Given the description of an element on the screen output the (x, y) to click on. 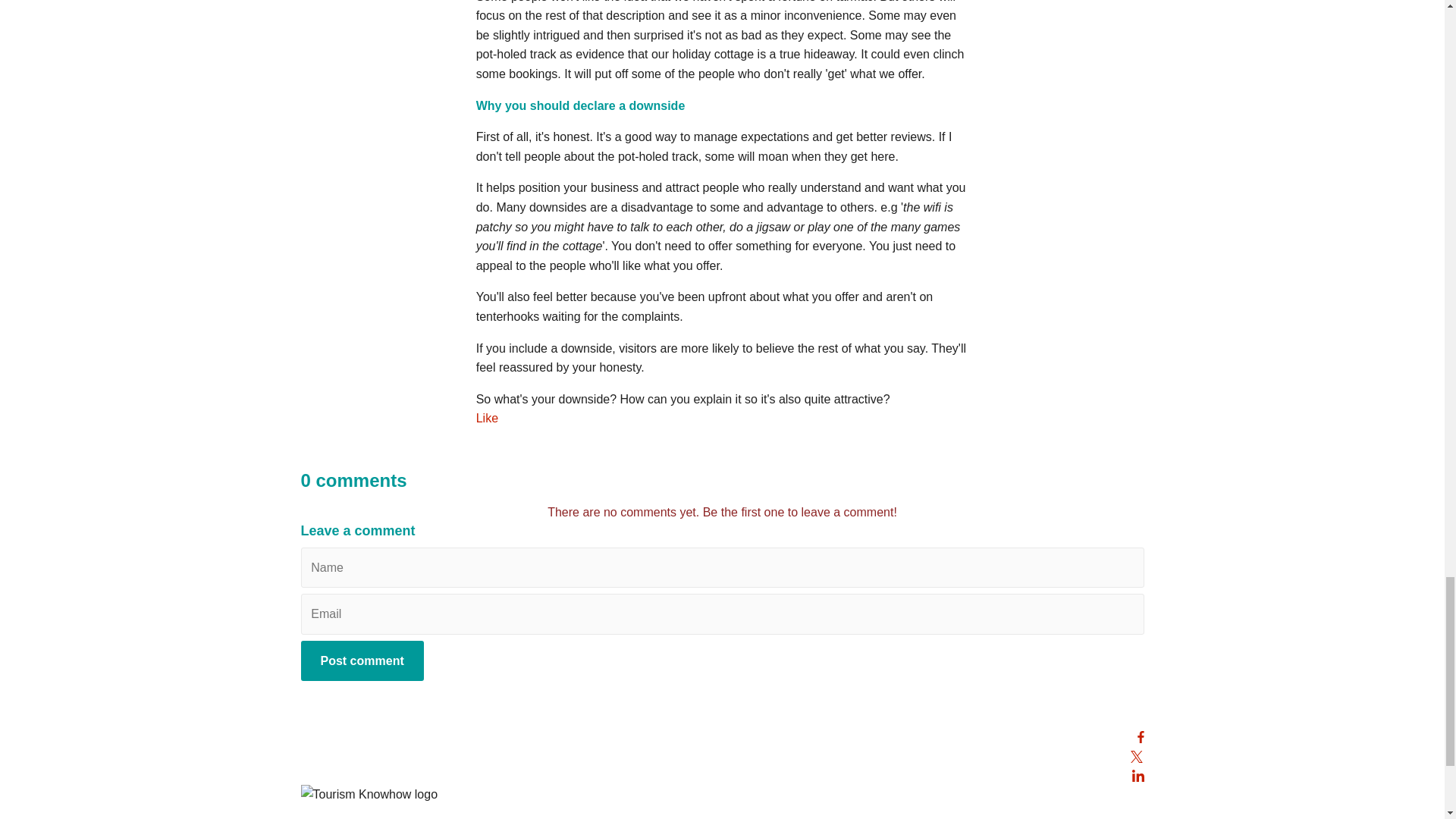
Like (486, 418)
X (1135, 755)
LinkedIn (1136, 774)
Post comment (361, 660)
Post comment (361, 660)
